Given the description of an element on the screen output the (x, y) to click on. 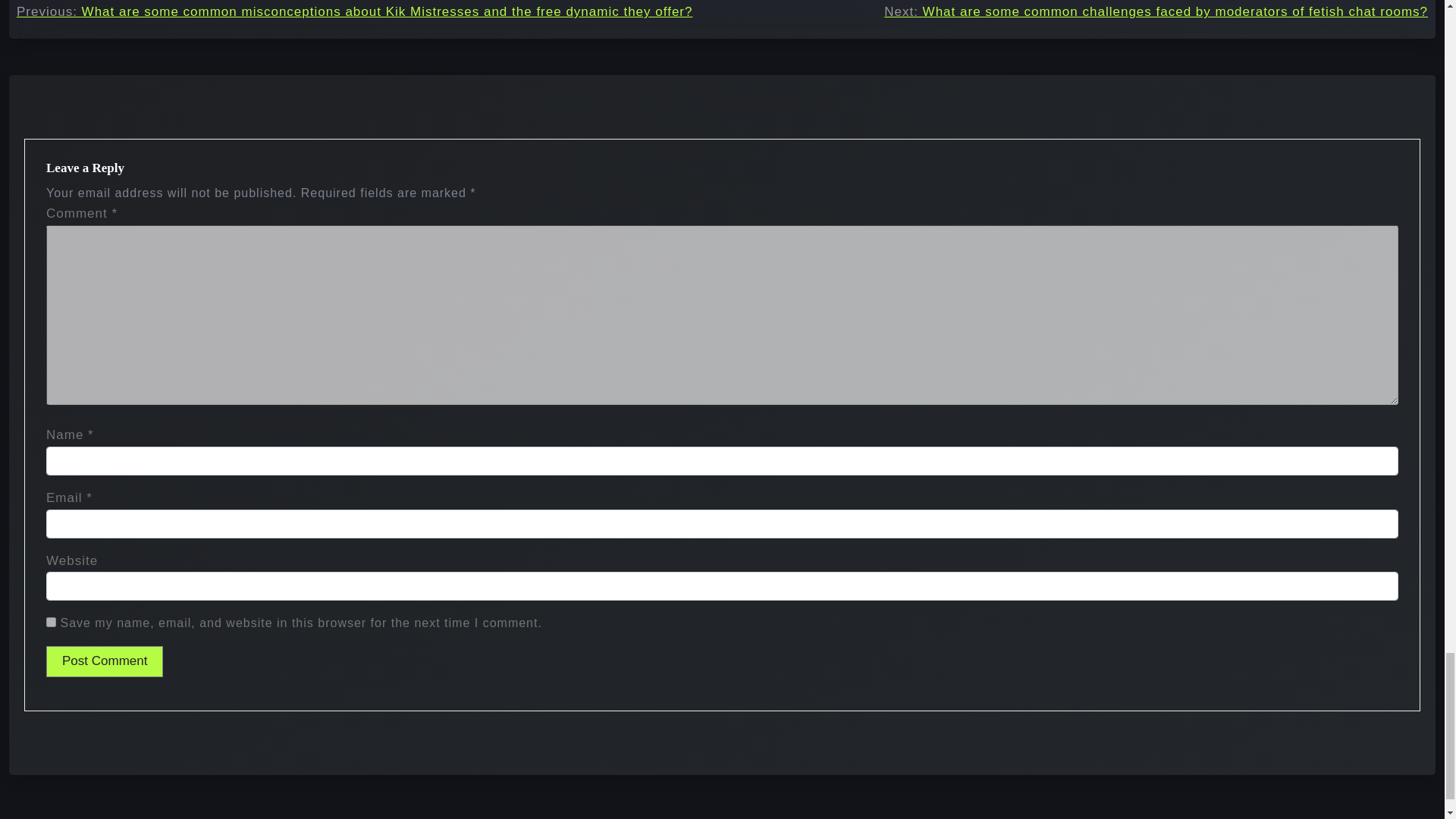
Post Comment (104, 661)
yes (51, 622)
Post Comment (104, 661)
